Given the description of an element on the screen output the (x, y) to click on. 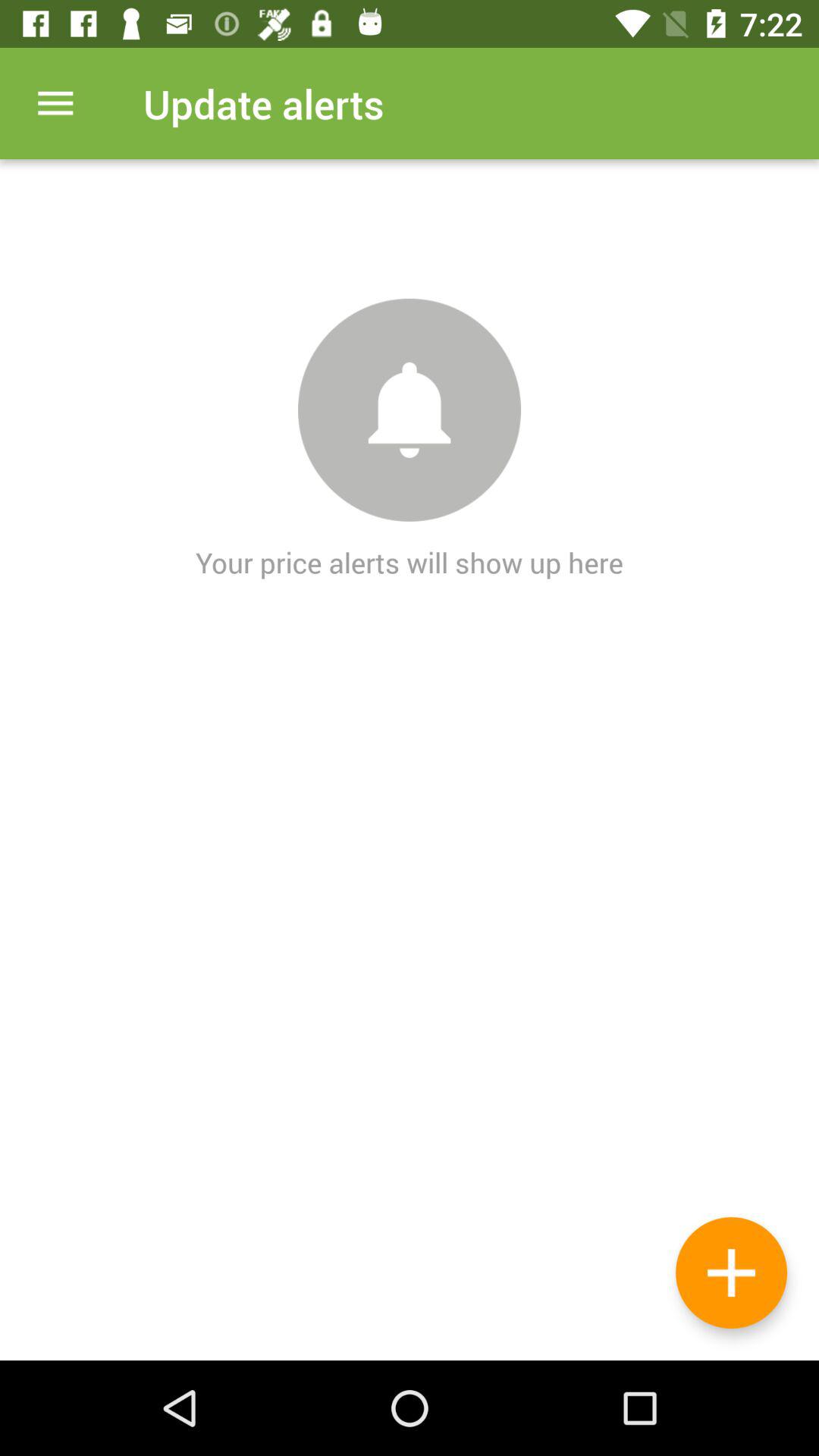
open the icon at the bottom right corner (731, 1272)
